Given the description of an element on the screen output the (x, y) to click on. 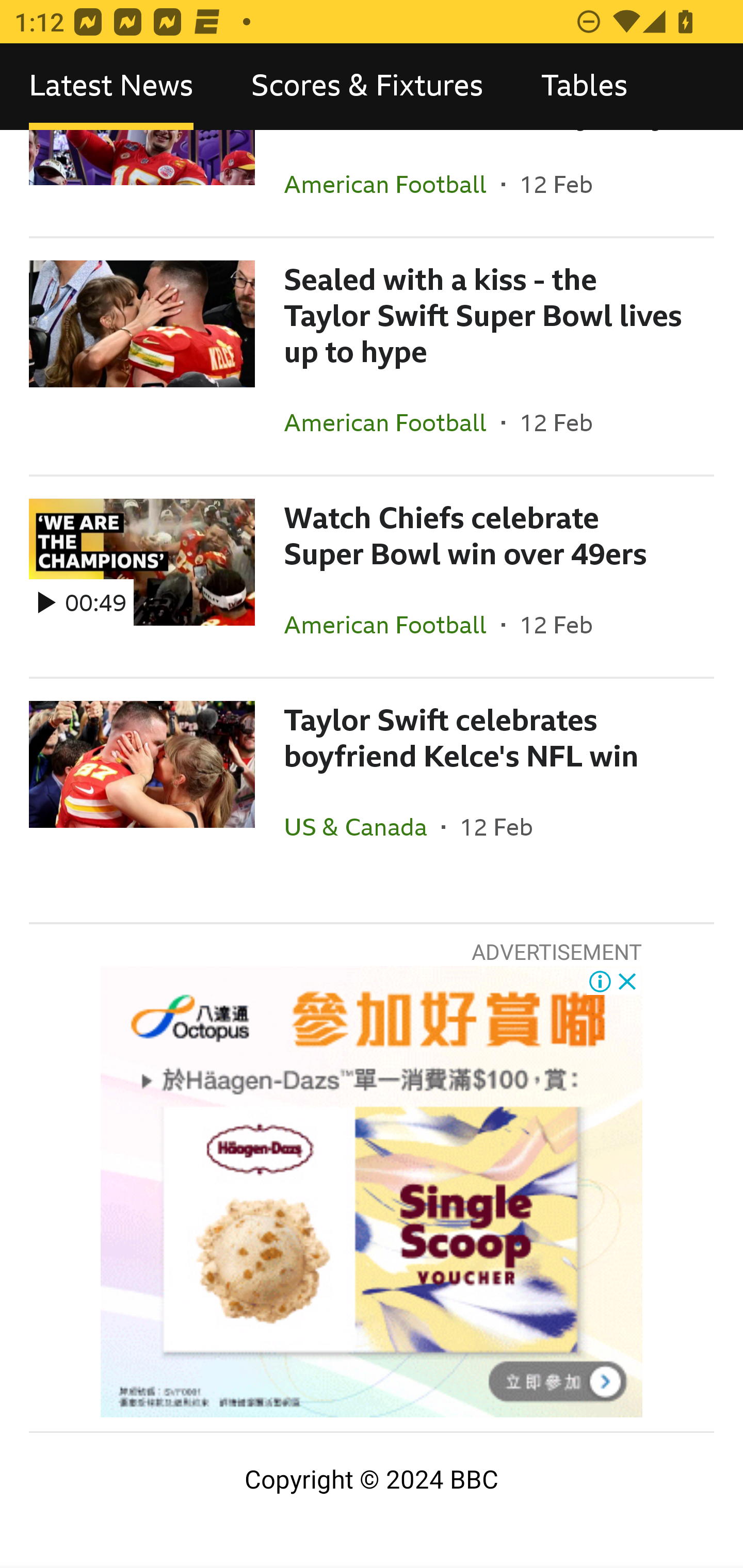
Latest News, selected Latest News (111, 86)
Scores & Fixtures (367, 86)
Tables (584, 86)
US & Canada In the section US & Canada (362, 826)
Advertisement (371, 1191)
